Given the description of an element on the screen output the (x, y) to click on. 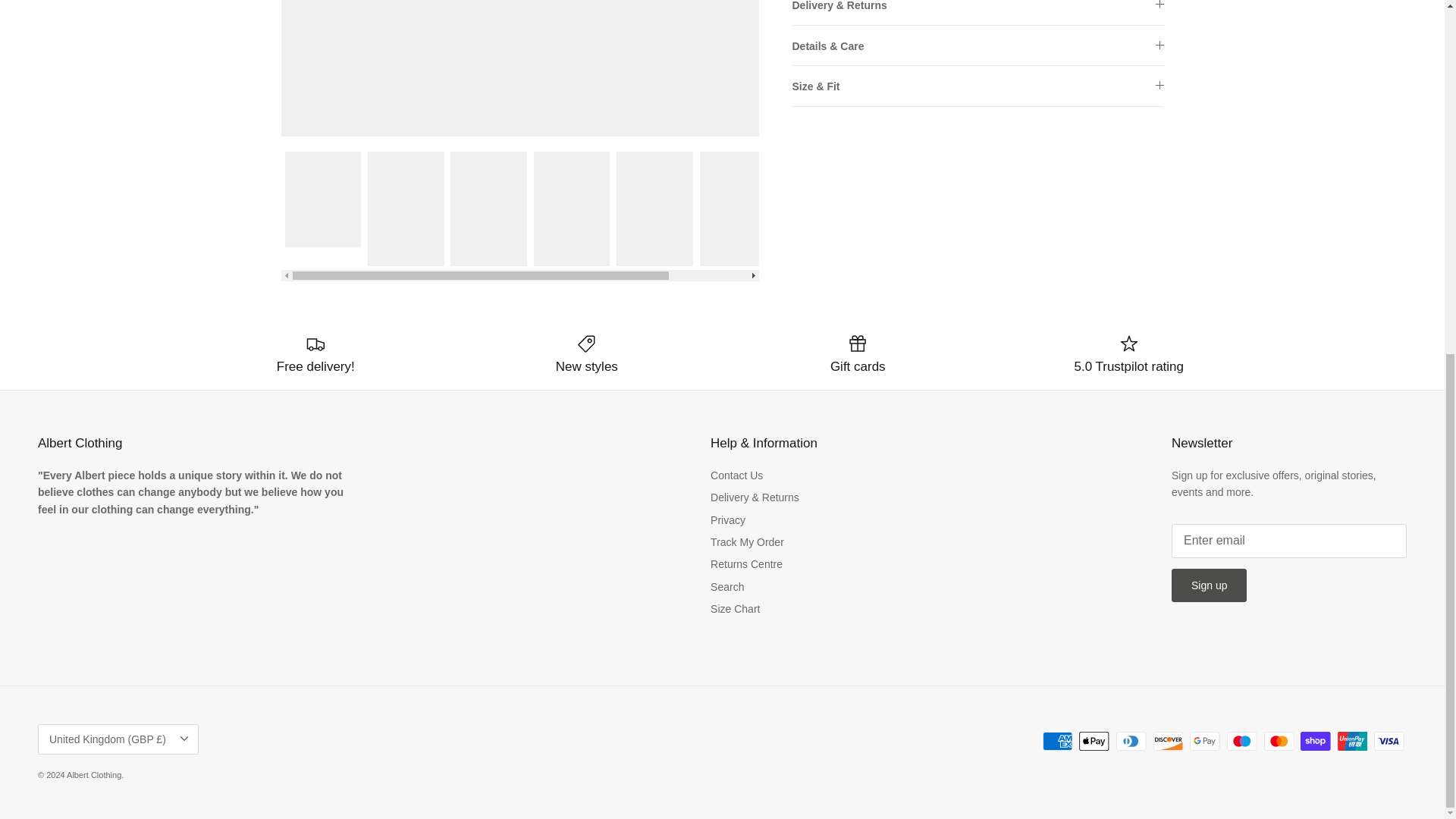
Maestro (1241, 741)
Visa (1388, 741)
Discover (1168, 741)
Down (183, 738)
Apple Pay (1093, 741)
Shop Pay (1315, 741)
Diners Club (1130, 741)
Mastercard (1277, 741)
Google Pay (1204, 741)
Union Pay (1352, 741)
American Express (1057, 741)
